Given the description of an element on the screen output the (x, y) to click on. 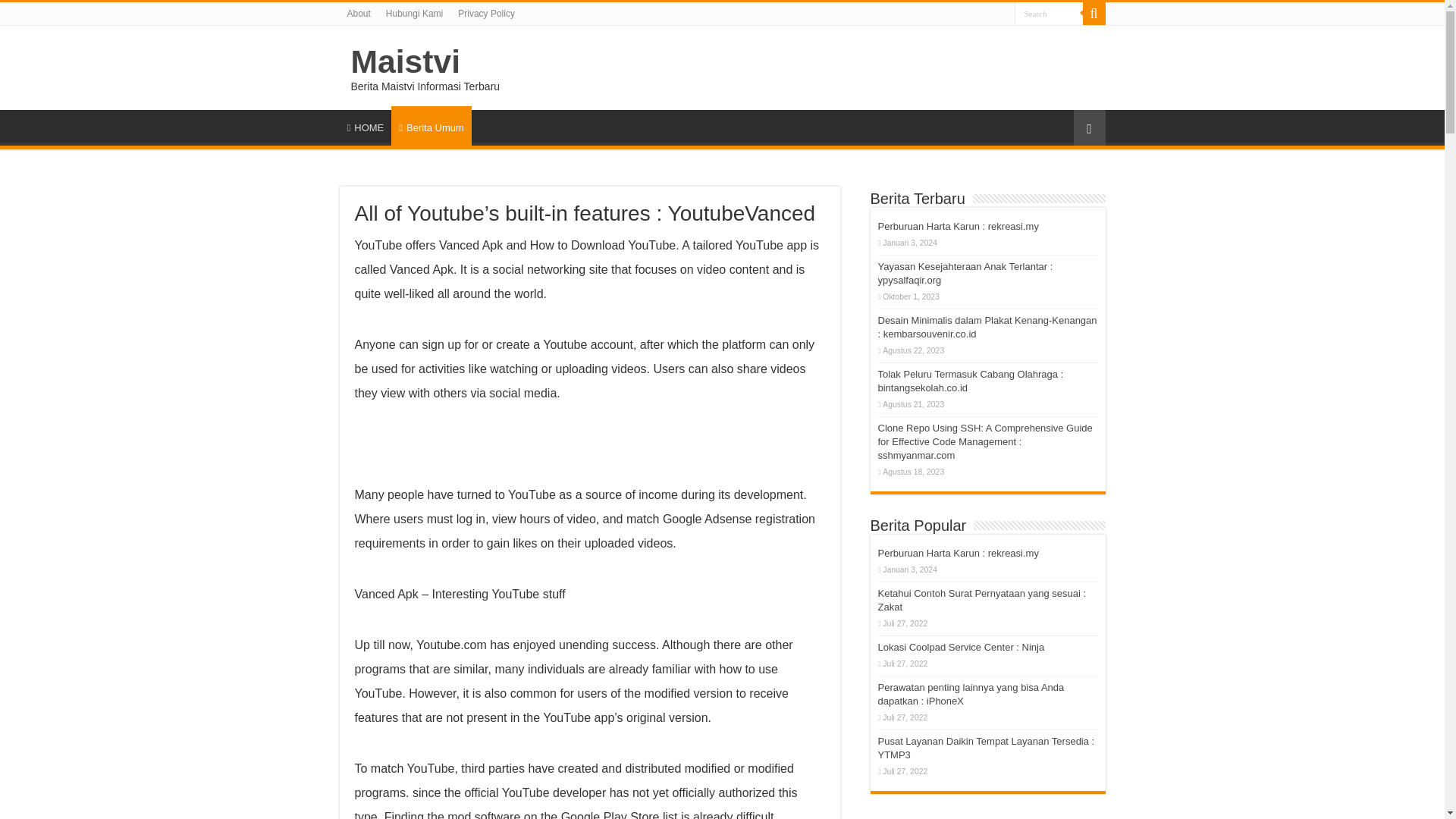
Perburuan Harta Karun : rekreasi.my (958, 225)
Lokasi Coolpad Service Center : Ninja (961, 646)
Yayasan Kesejahteraan Anak Terlantar : ypysalfaqir.org (964, 273)
Search (1094, 13)
Privacy Policy (485, 13)
HOME (365, 125)
Perburuan Harta Karun : rekreasi.my (958, 552)
Perawatan penting lainnya yang bisa Anda dapatkan : iPhoneX (970, 693)
Ketahui Contoh Surat Pernyataan yang sesuai : Zakat (981, 600)
Search (1048, 13)
About (358, 13)
Tolak Peluru Termasuk Cabang Olahraga : bintangsekolah.co.id (970, 380)
